Given the description of an element on the screen output the (x, y) to click on. 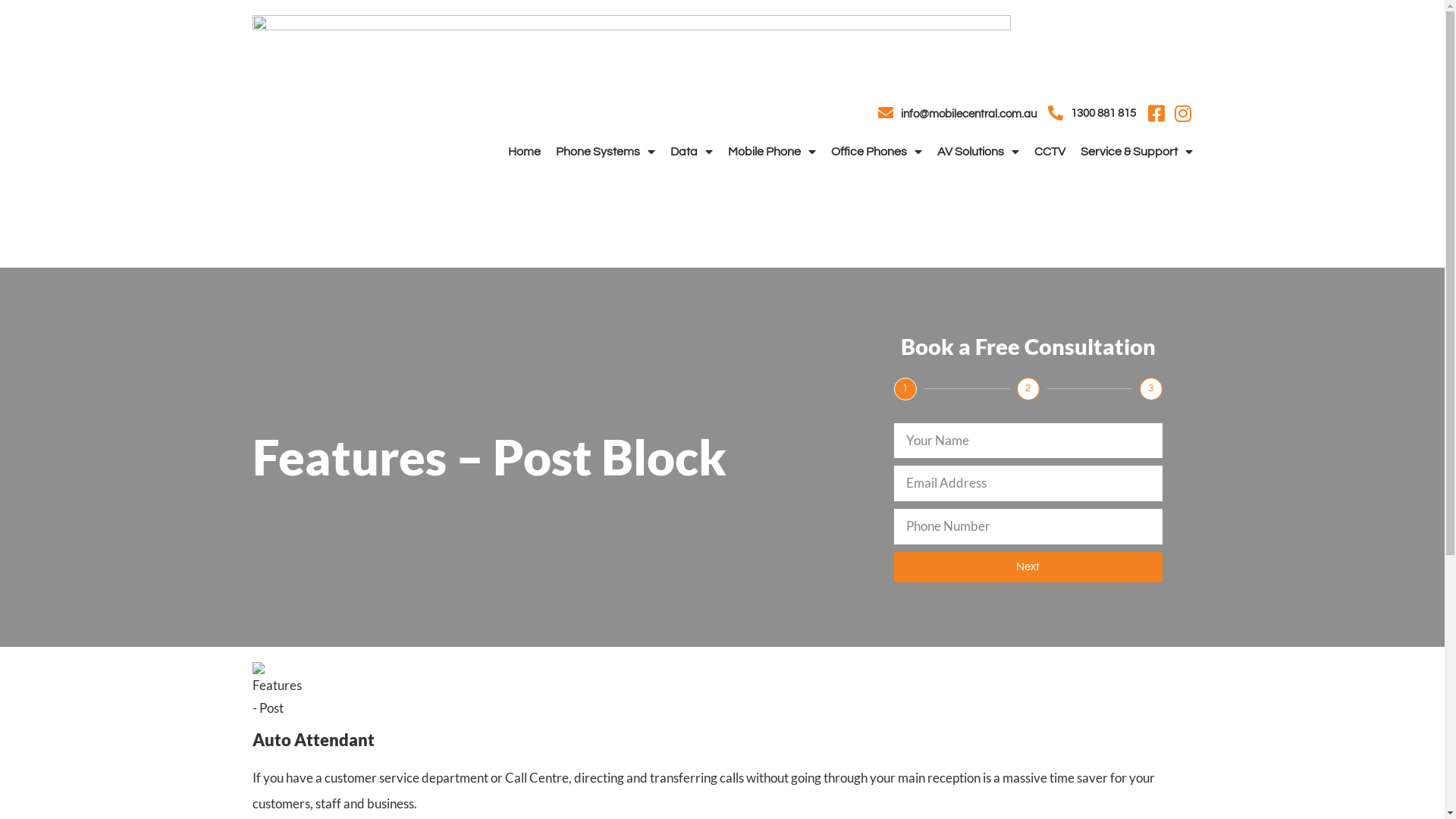
Office Phones Element type: text (876, 151)
Service & Support Element type: text (1135, 151)
Mobile Phone Element type: text (771, 151)
Home Element type: text (524, 151)
Features - Post Block 1 Element type: hover (277, 687)
Data Element type: text (691, 151)
Next Element type: text (1027, 567)
info@mobilecentral.com.au Element type: text (968, 113)
CCTV Element type: text (1049, 151)
Phone Systems Element type: text (604, 151)
1300 881 815 Element type: text (1102, 113)
AV Solutions Element type: text (978, 151)
